Given the description of an element on the screen output the (x, y) to click on. 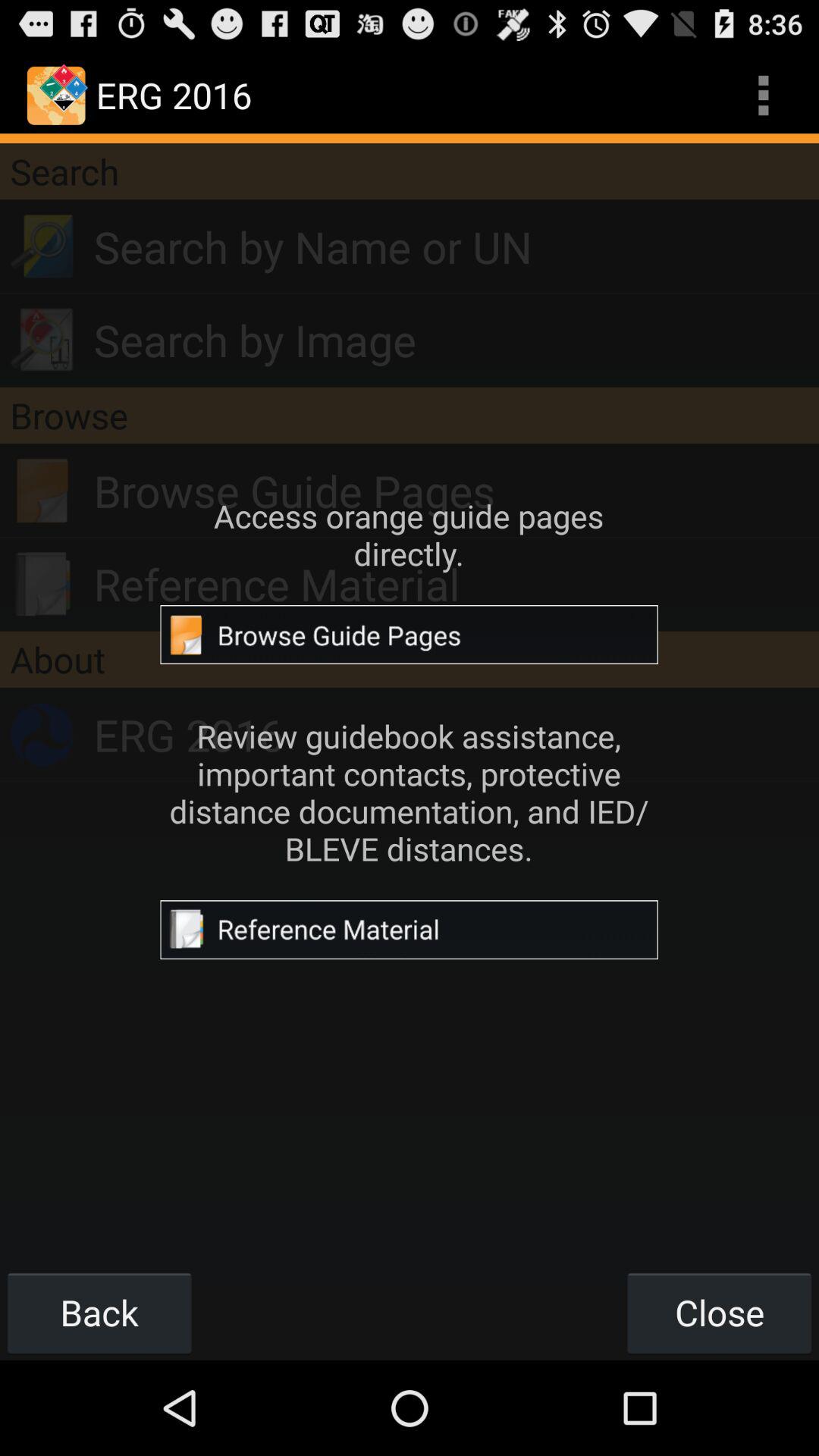
select the close (719, 1312)
